Given the description of an element on the screen output the (x, y) to click on. 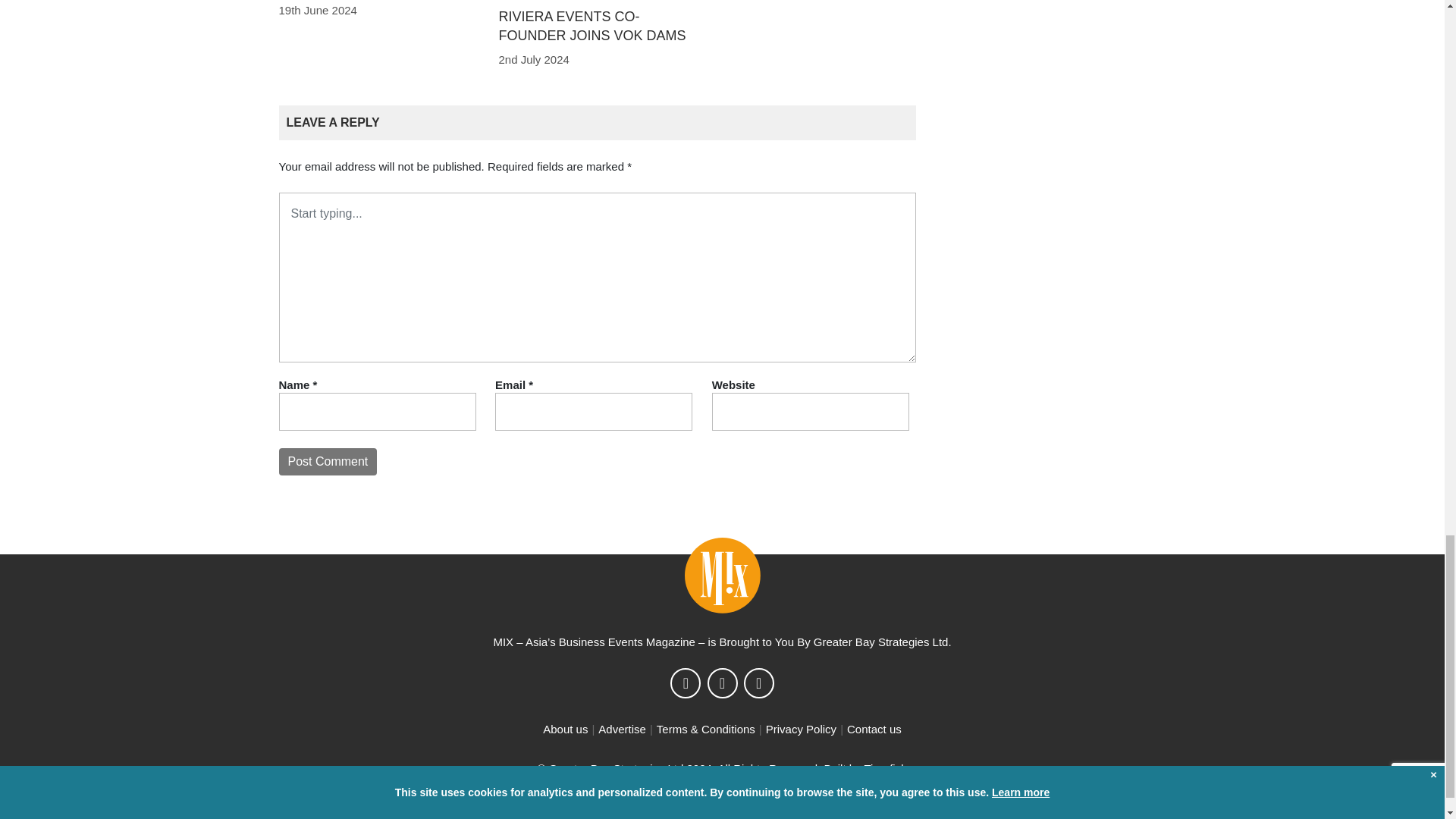
RIVIERA EVENTS CO-FOUNDER JOINS VOK DAMS (591, 26)
Post Comment (328, 461)
